Given the description of an element on the screen output the (x, y) to click on. 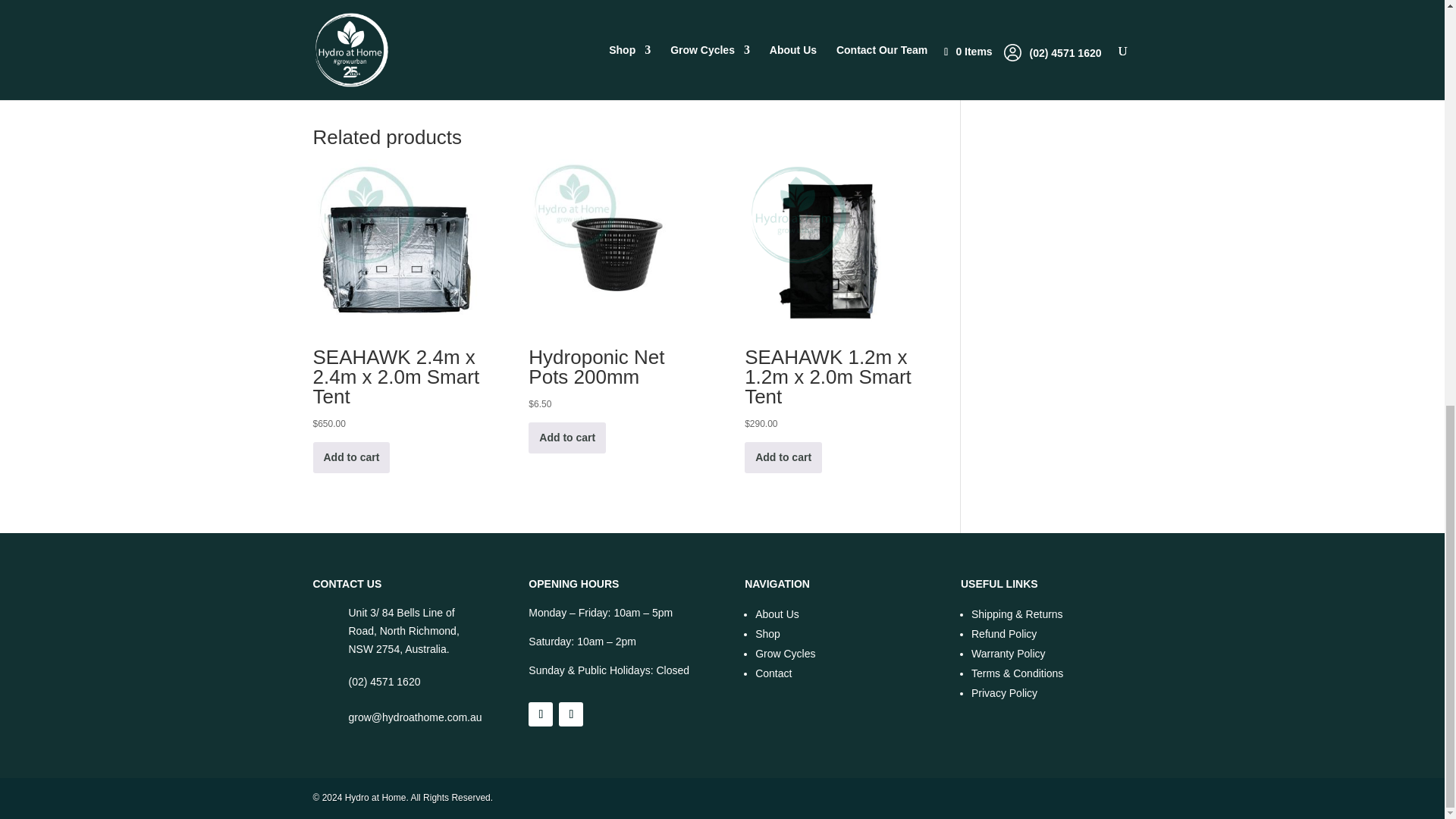
Follow on Instagram (571, 713)
Follow on Facebook (540, 713)
